Given the description of an element on the screen output the (x, y) to click on. 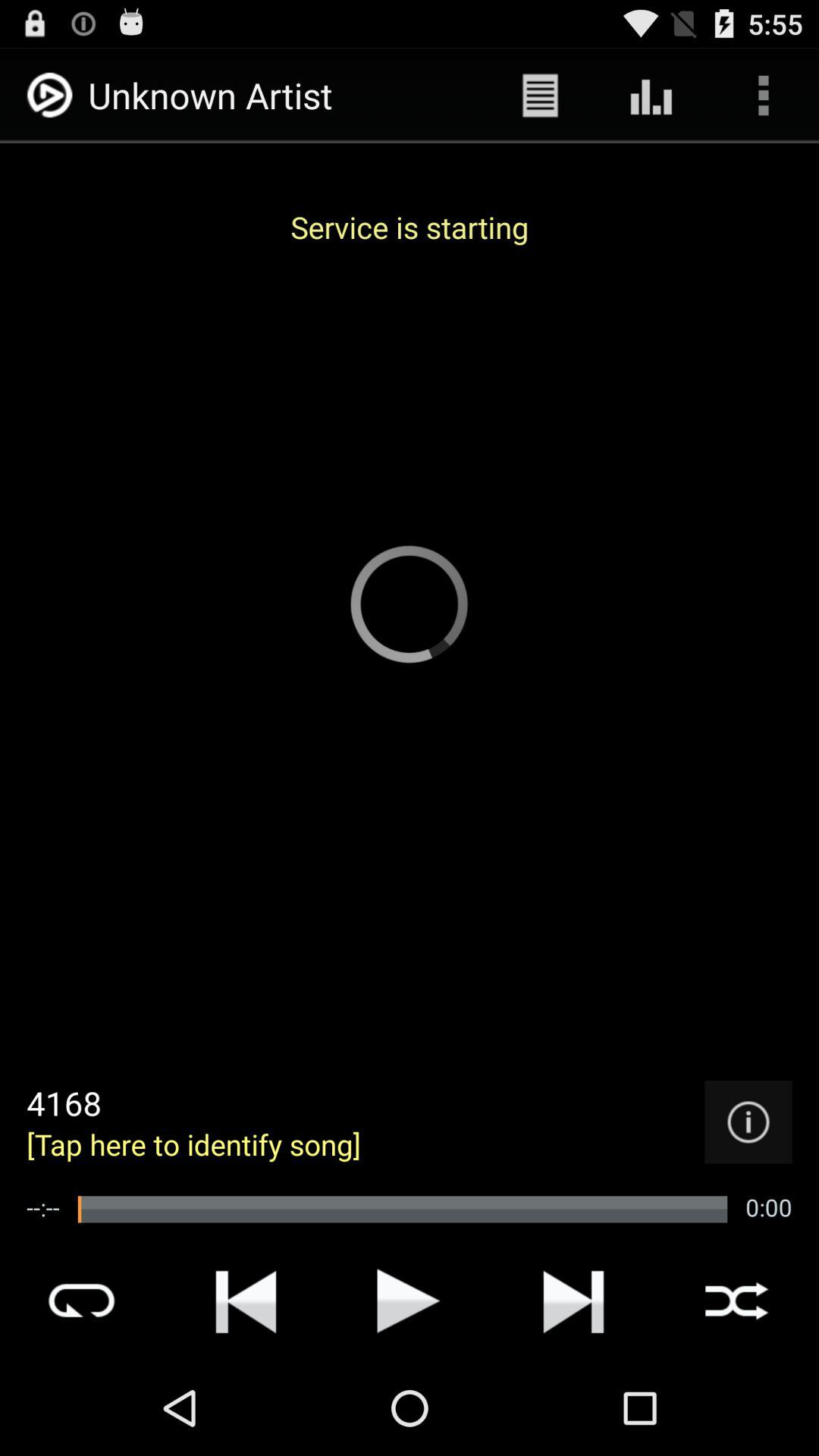
detail the pages (748, 1121)
